Given the description of an element on the screen output the (x, y) to click on. 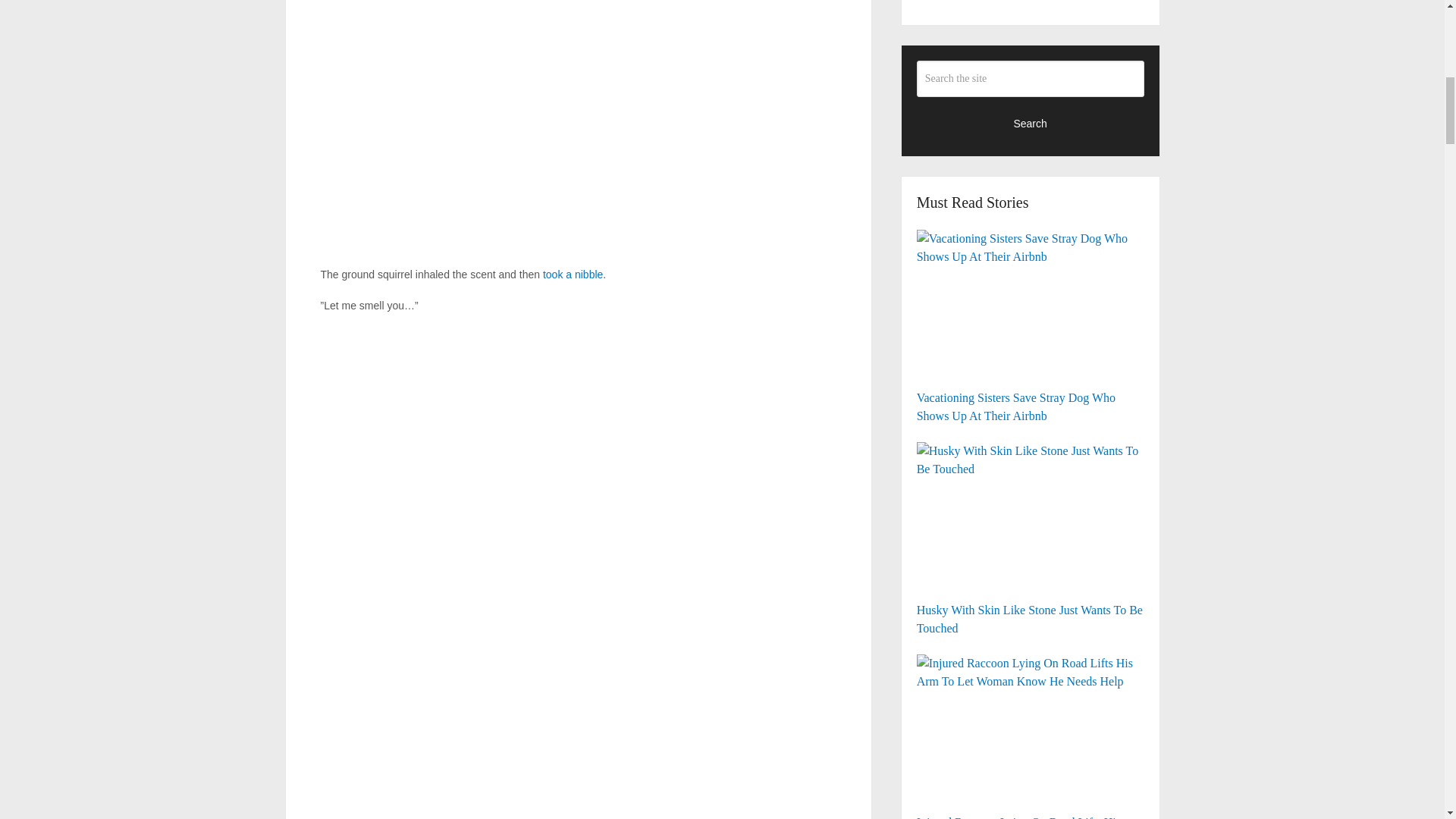
Husky With Skin Like Stone Just Wants To Be Touched (1030, 517)
Husky With Skin Like Stone Just Wants To Be Touched (1030, 538)
Advertisement (1030, 2)
